Given the description of an element on the screen output the (x, y) to click on. 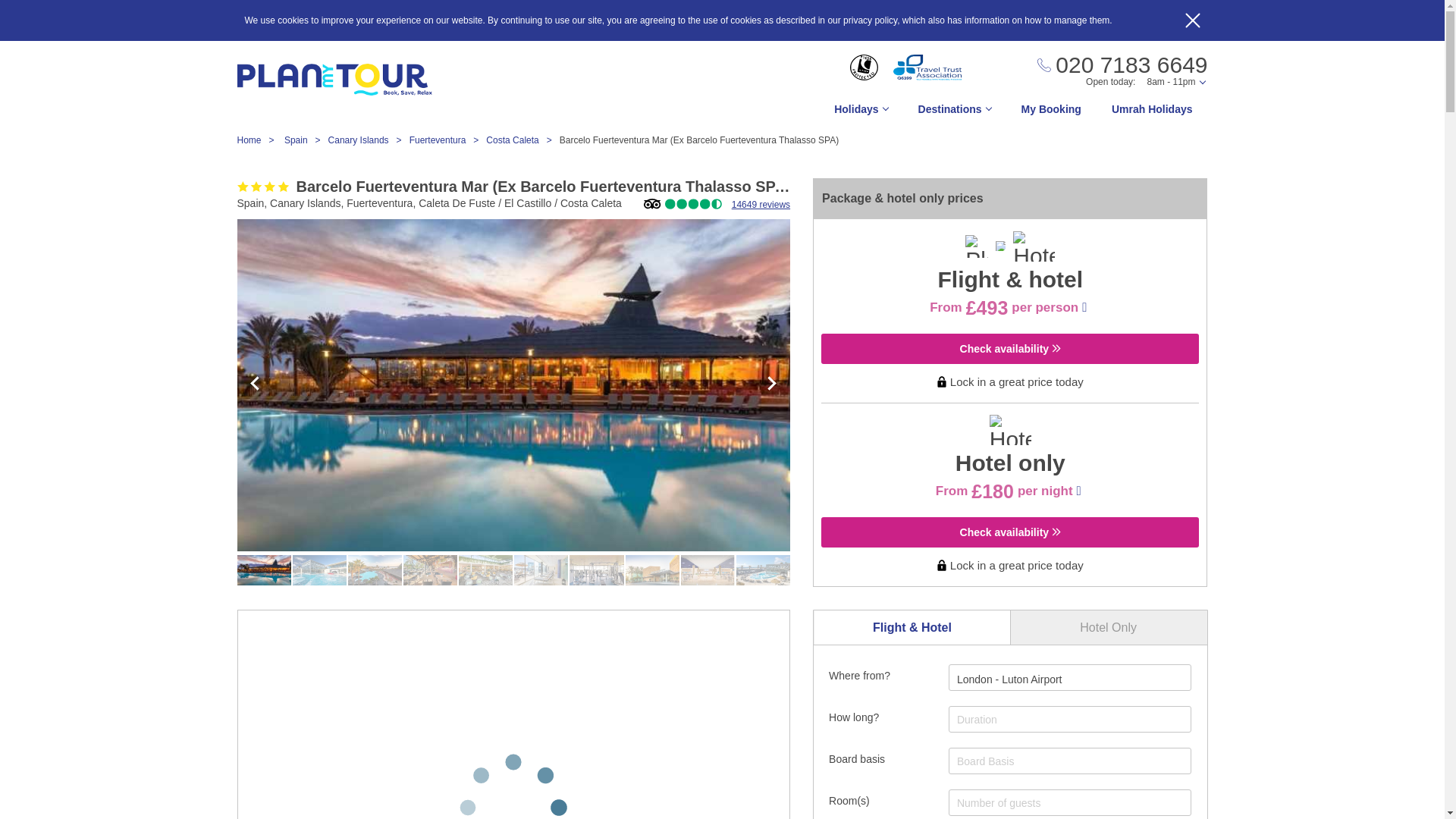
Destinations (954, 112)
Holidays (860, 112)
London - Luton Airport (1009, 679)
020 7183 6649 (1121, 65)
